Given the description of an element on the screen output the (x, y) to click on. 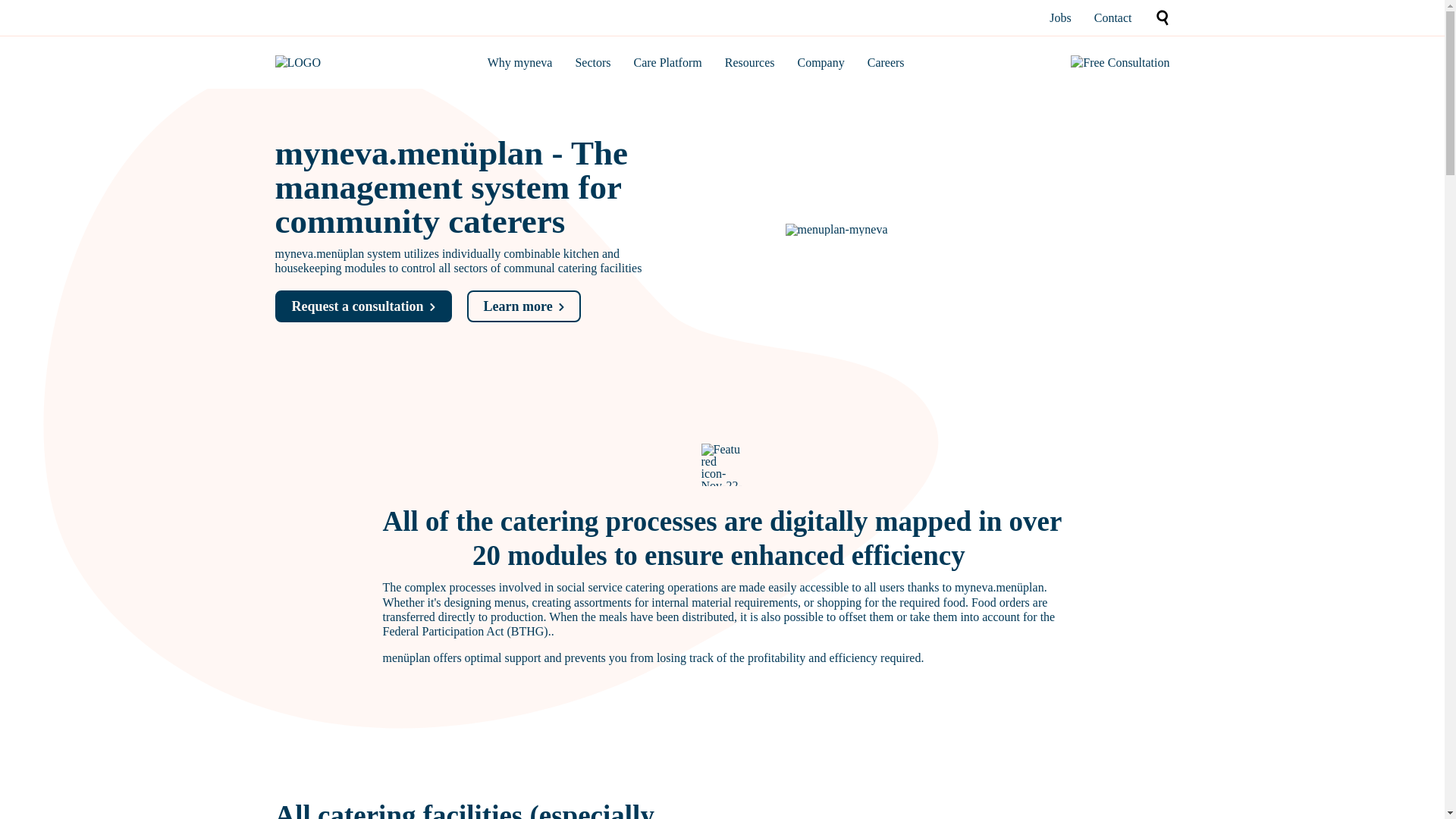
Contact (1113, 17)
Why myneva (520, 62)
Jobs (1059, 17)
Company (820, 62)
Care Platform (667, 62)
Sectors (592, 62)
Resources (749, 62)
